Given the description of an element on the screen output the (x, y) to click on. 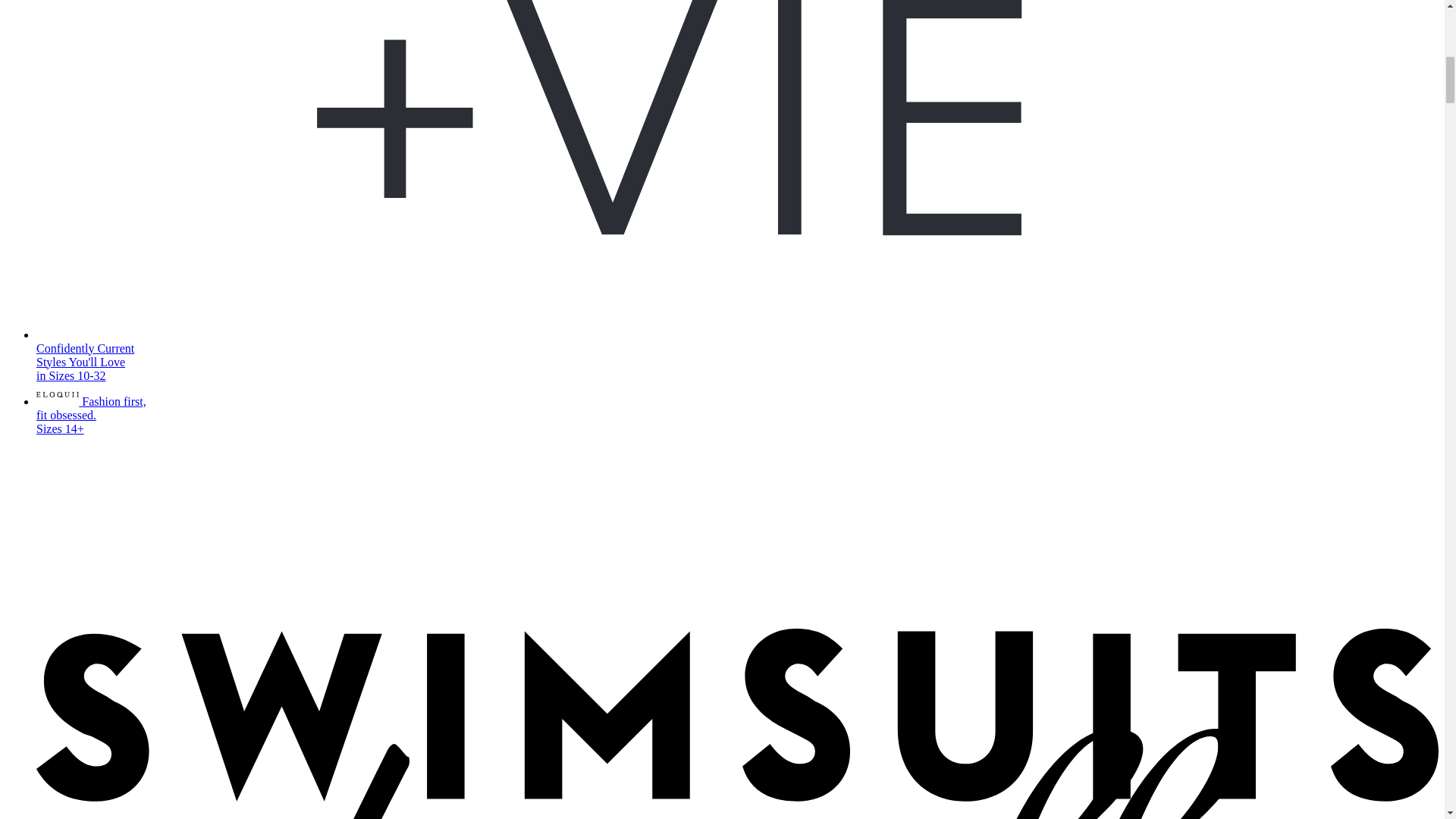
ELOQUII (57, 394)
